Given the description of an element on the screen output the (x, y) to click on. 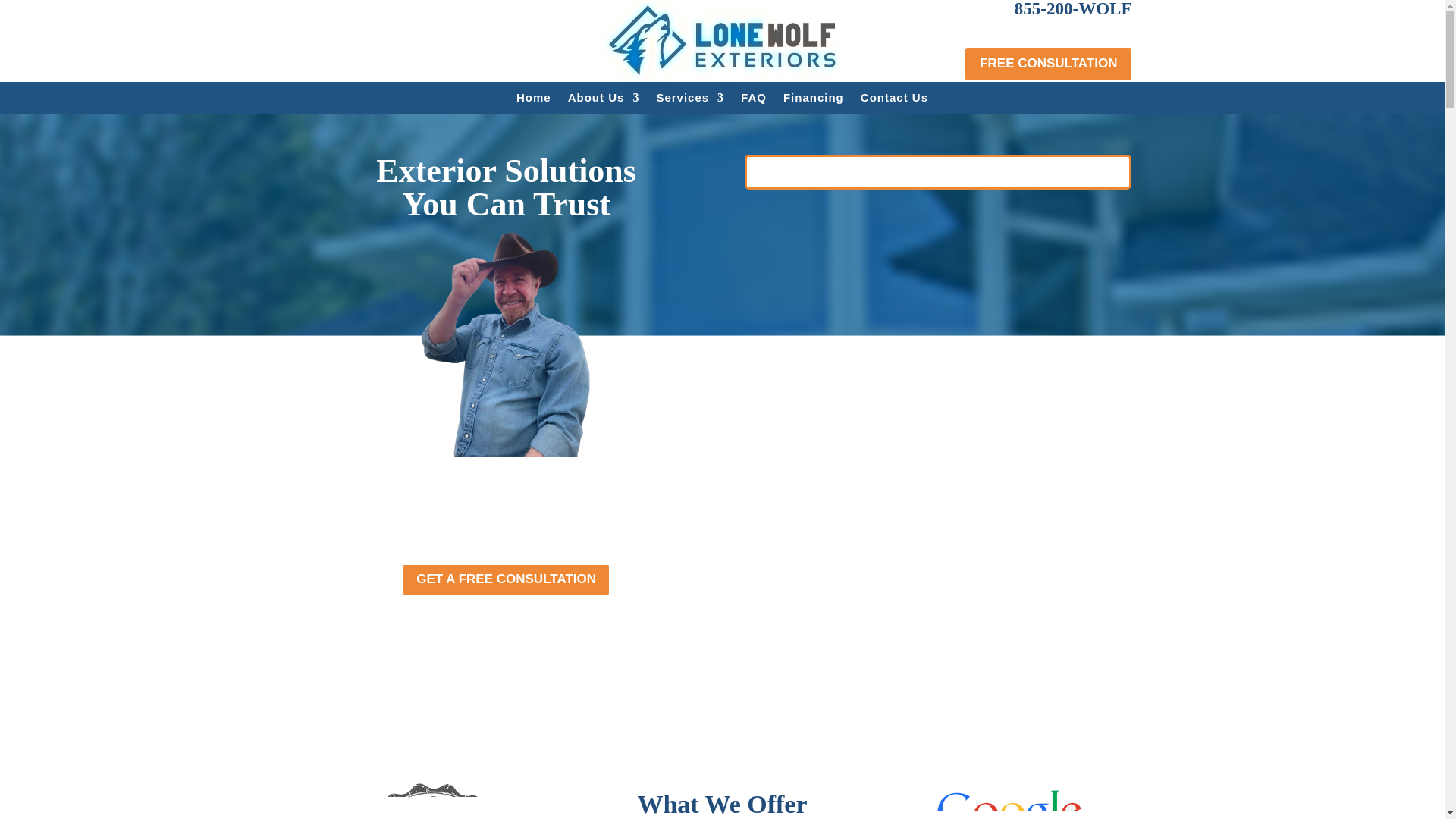
Home (533, 100)
Financing (813, 100)
Services (689, 100)
window replacement licensed insured bonded (433, 800)
google-5-stars-rating (1010, 800)
GET A FREE CONSULTATION (505, 579)
Contact Us (894, 100)
FAQ (754, 100)
About Us (603, 100)
